Given the description of an element on the screen output the (x, y) to click on. 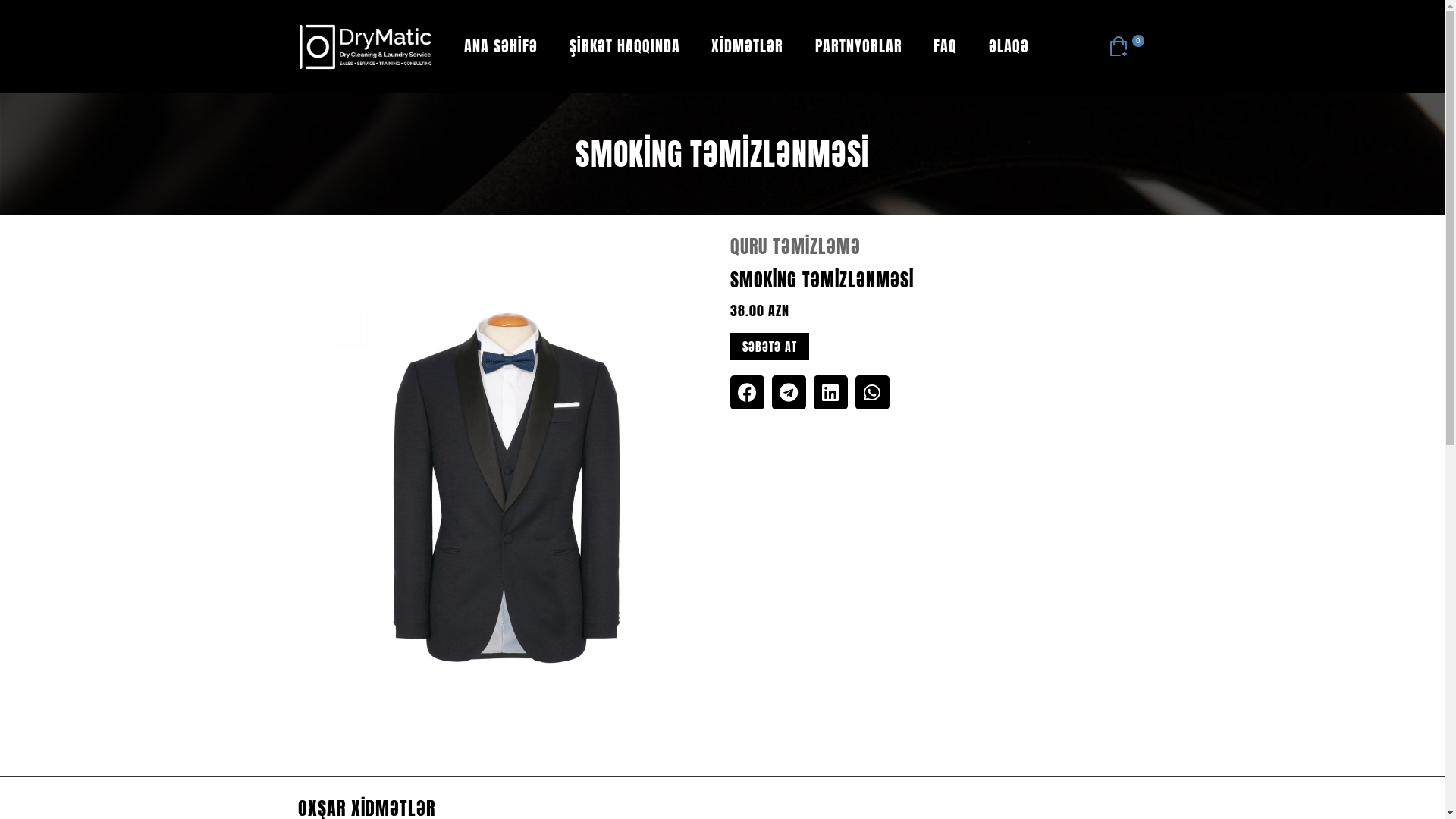
PARTNYORLAR Element type: text (858, 45)
FAQ Element type: text (945, 45)
0 Element type: text (1126, 46)
